Given the description of an element on the screen output the (x, y) to click on. 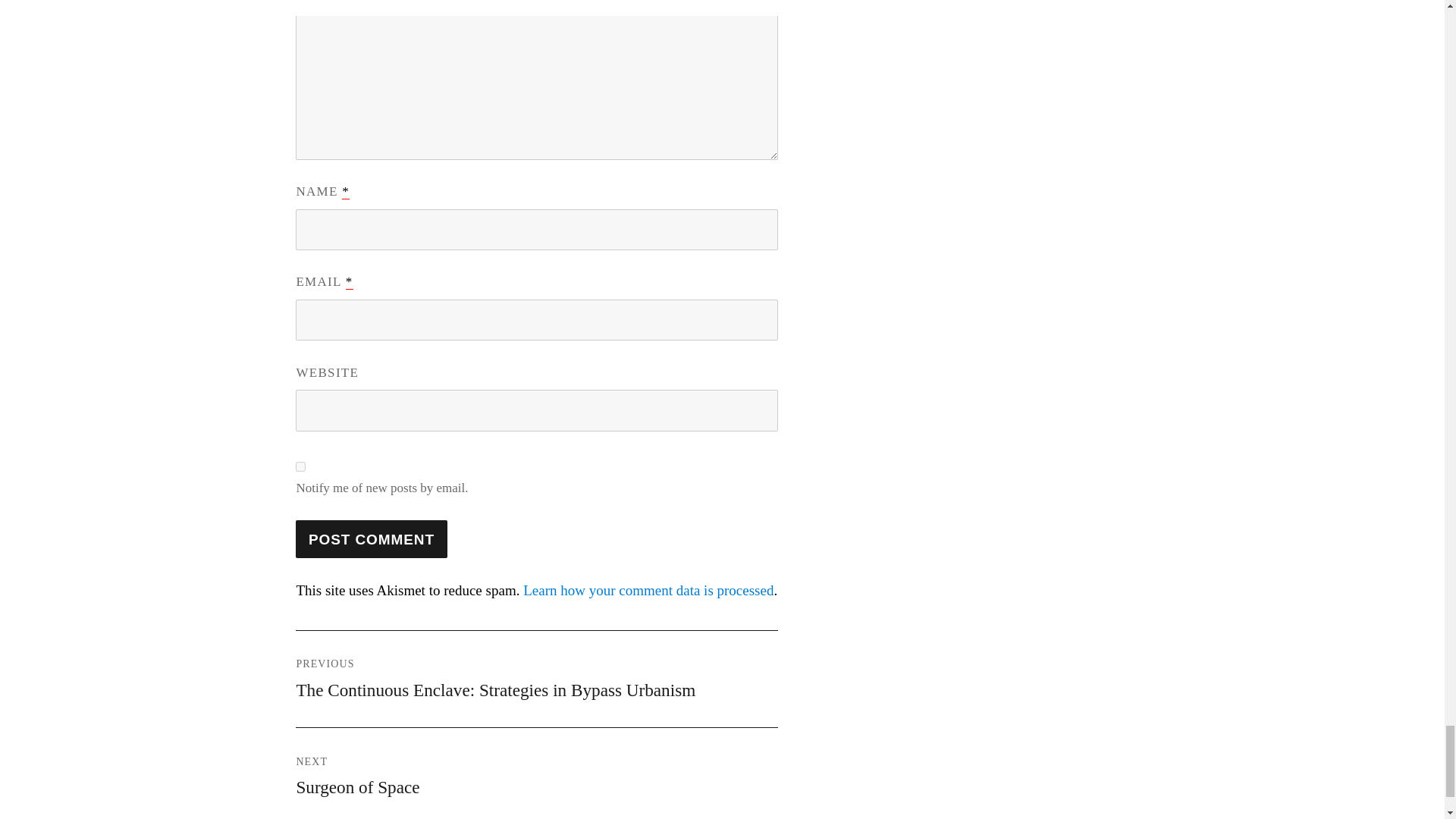
Post Comment (370, 538)
subscribe (300, 466)
